Given the description of an element on the screen output the (x, y) to click on. 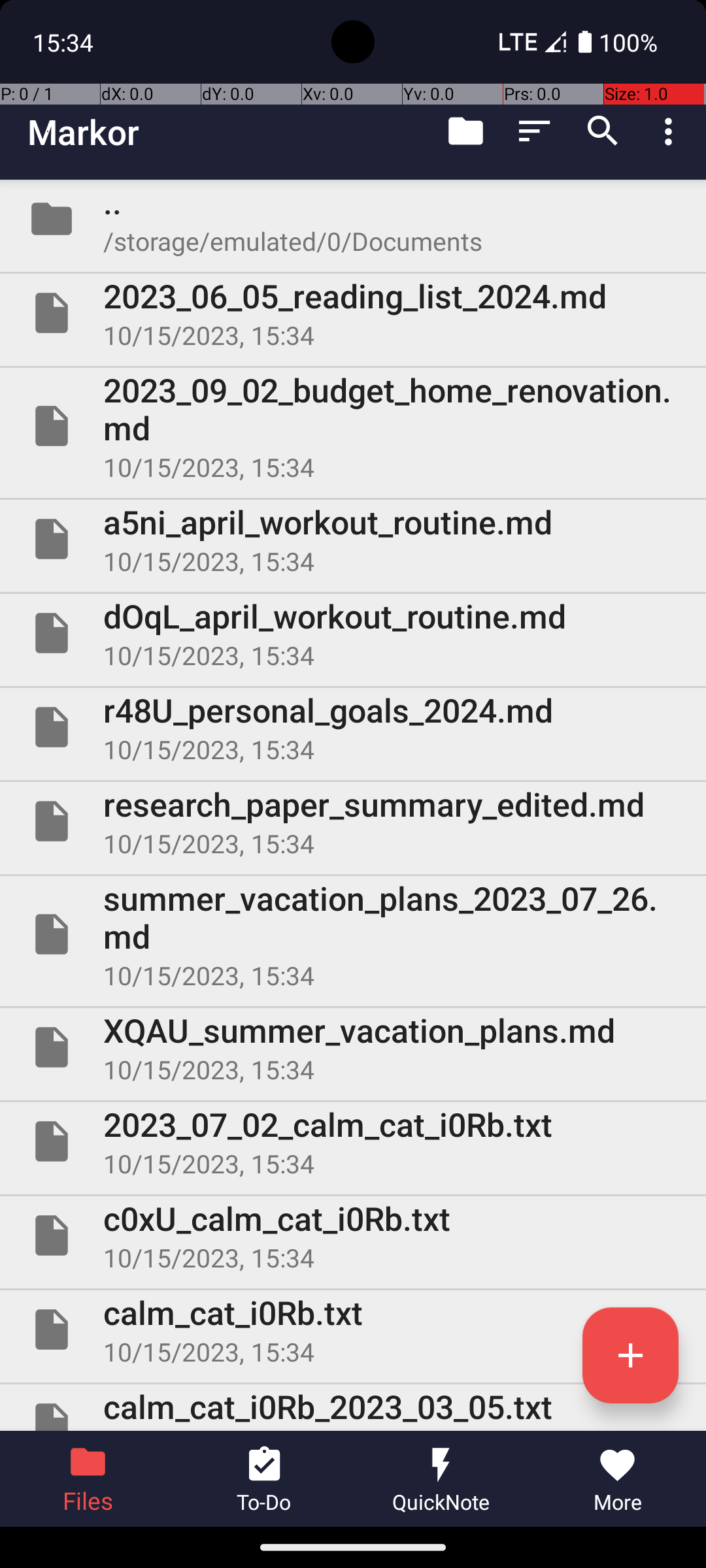
File 2023_06_05_reading_list_2024.md  Element type: android.widget.LinearLayout (353, 312)
File 2023_09_02_budget_home_renovation.md  Element type: android.widget.LinearLayout (353, 425)
File a5ni_april_workout_routine.md  Element type: android.widget.LinearLayout (353, 538)
File dOqL_april_workout_routine.md  Element type: android.widget.LinearLayout (353, 632)
File r48U_personal_goals_2024.md  Element type: android.widget.LinearLayout (353, 726)
File research_paper_summary_edited.md  Element type: android.widget.LinearLayout (353, 821)
File summer_vacation_plans_2023_07_26.md  Element type: android.widget.LinearLayout (353, 934)
File XQAU_summer_vacation_plans.md  Element type: android.widget.LinearLayout (353, 1047)
File 2023_07_02_calm_cat_i0Rb.txt  Element type: android.widget.LinearLayout (353, 1141)
File c0xU_calm_cat_i0Rb.txt  Element type: android.widget.LinearLayout (353, 1235)
File calm_cat_i0Rb.txt  Element type: android.widget.LinearLayout (353, 1329)
File calm_cat_i0Rb_2023_03_05.txt  Element type: android.widget.LinearLayout (353, 1407)
